Given the description of an element on the screen output the (x, y) to click on. 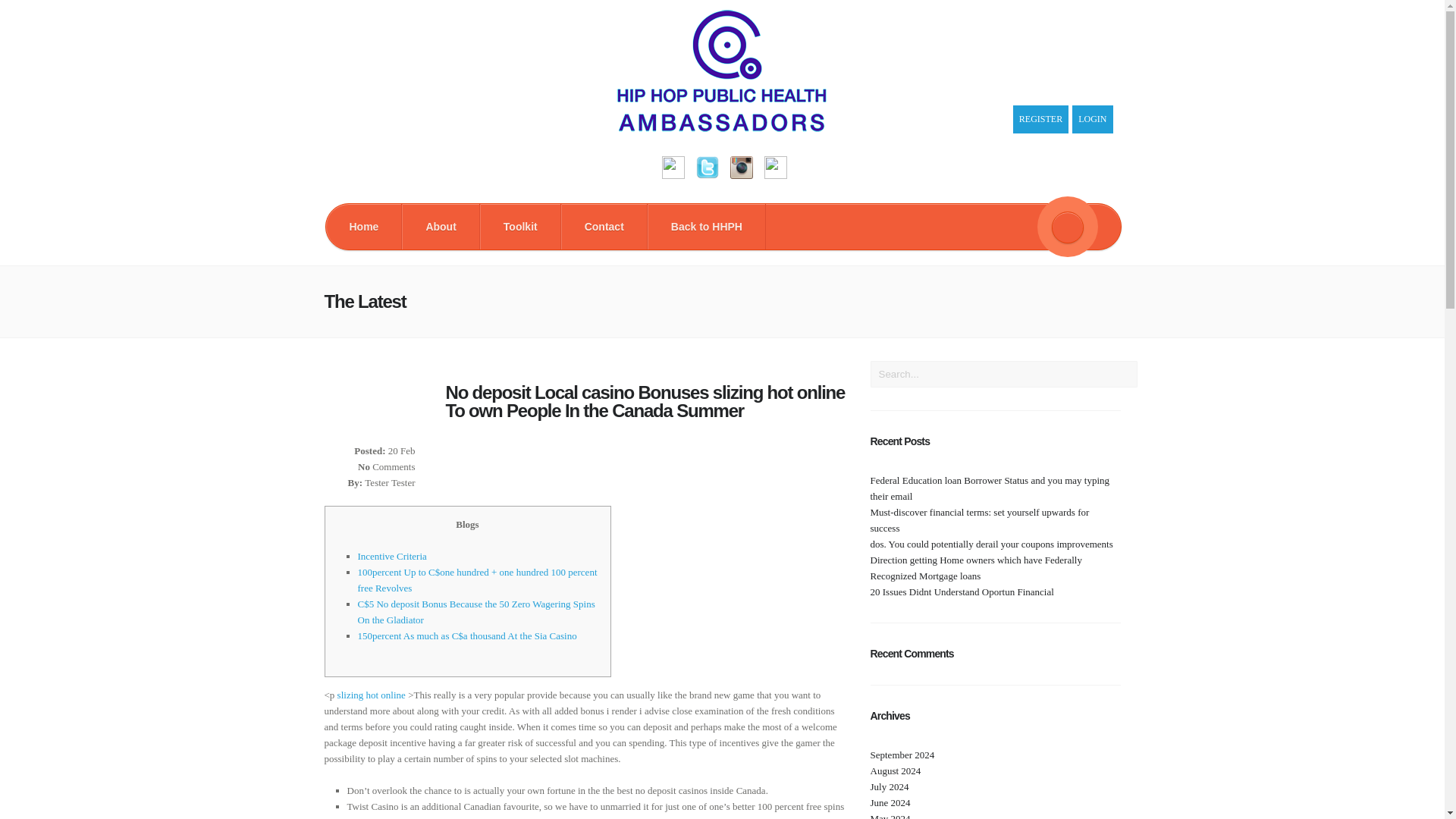
About (440, 226)
July 2024 (889, 786)
HHPH Ambassador (721, 128)
20 Issues Didnt Understand Oportun Financial (962, 591)
Search... (1003, 374)
No Comments (386, 466)
June 2024 (890, 802)
Search... (1003, 374)
August 2024 (895, 770)
